Given the description of an element on the screen output the (x, y) to click on. 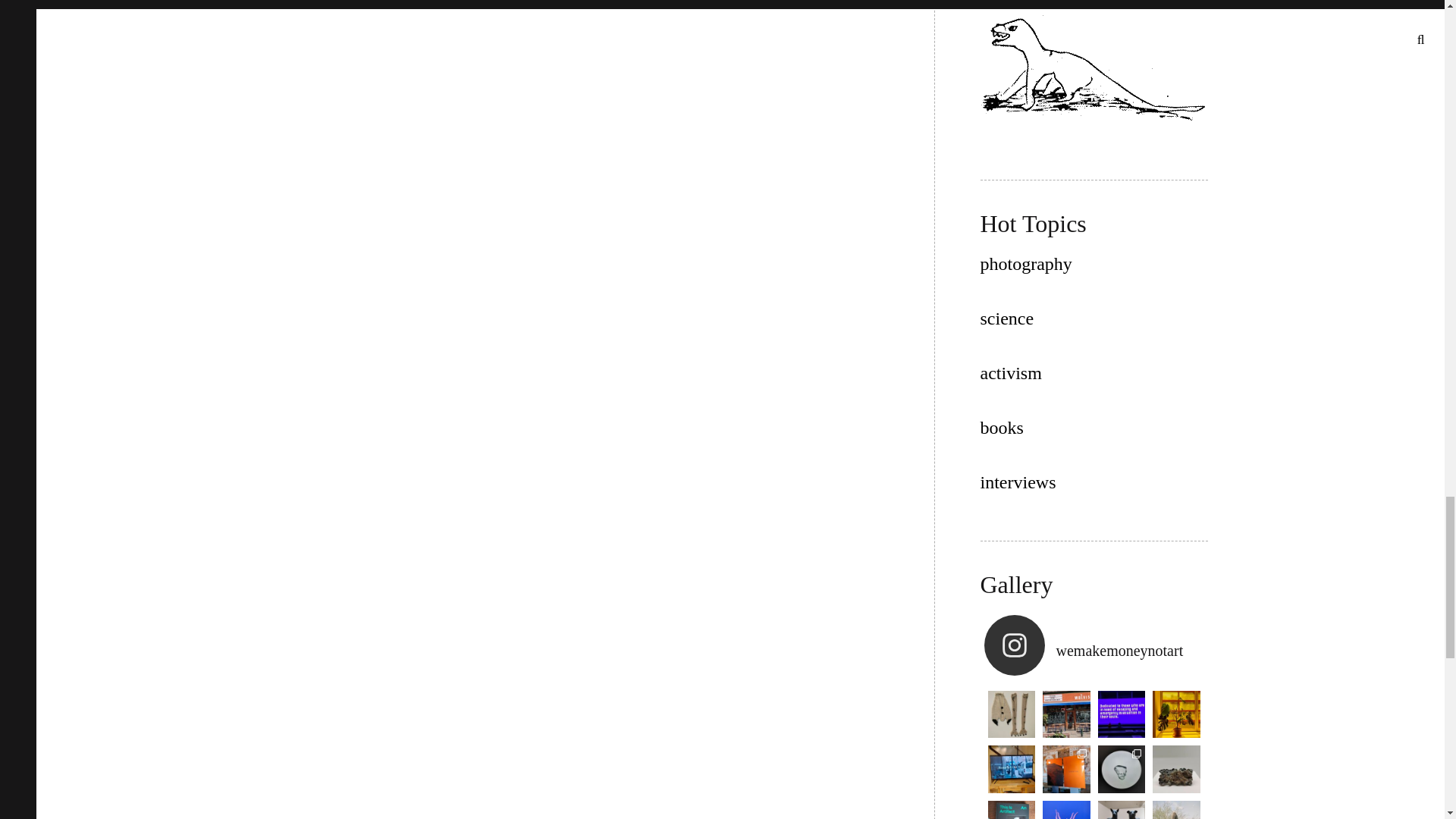
science (1006, 318)
photography (1025, 263)
wemakemoneynotart (1094, 645)
books (1001, 427)
activism (1010, 373)
interviews (1017, 482)
